Given the description of an element on the screen output the (x, y) to click on. 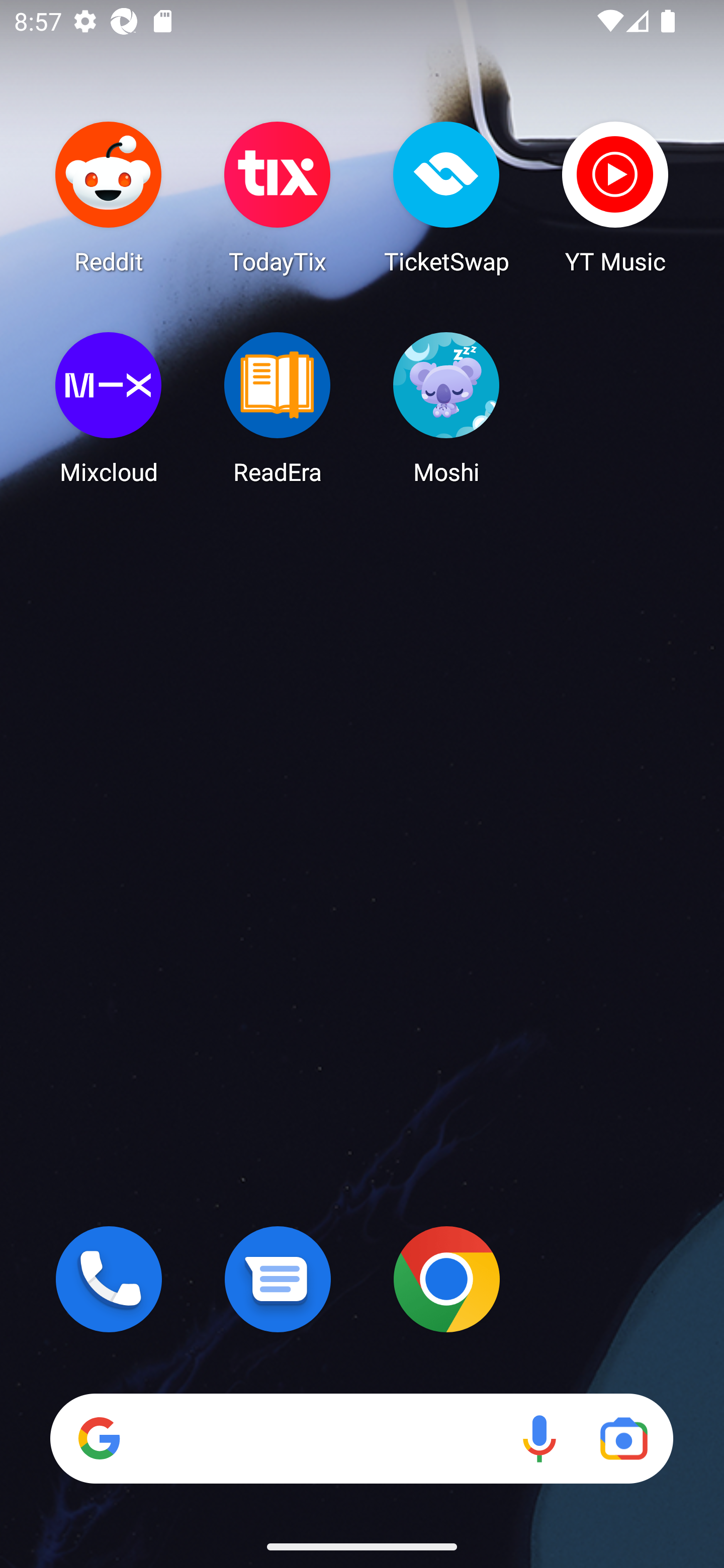
Reddit (108, 196)
TodayTix (277, 196)
TicketSwap (445, 196)
YT Music (615, 196)
Mixcloud (108, 407)
ReadEra (277, 407)
Moshi (445, 407)
Phone (108, 1279)
Messages (277, 1279)
Chrome (446, 1279)
Voice search (539, 1438)
Google Lens (623, 1438)
